Given the description of an element on the screen output the (x, y) to click on. 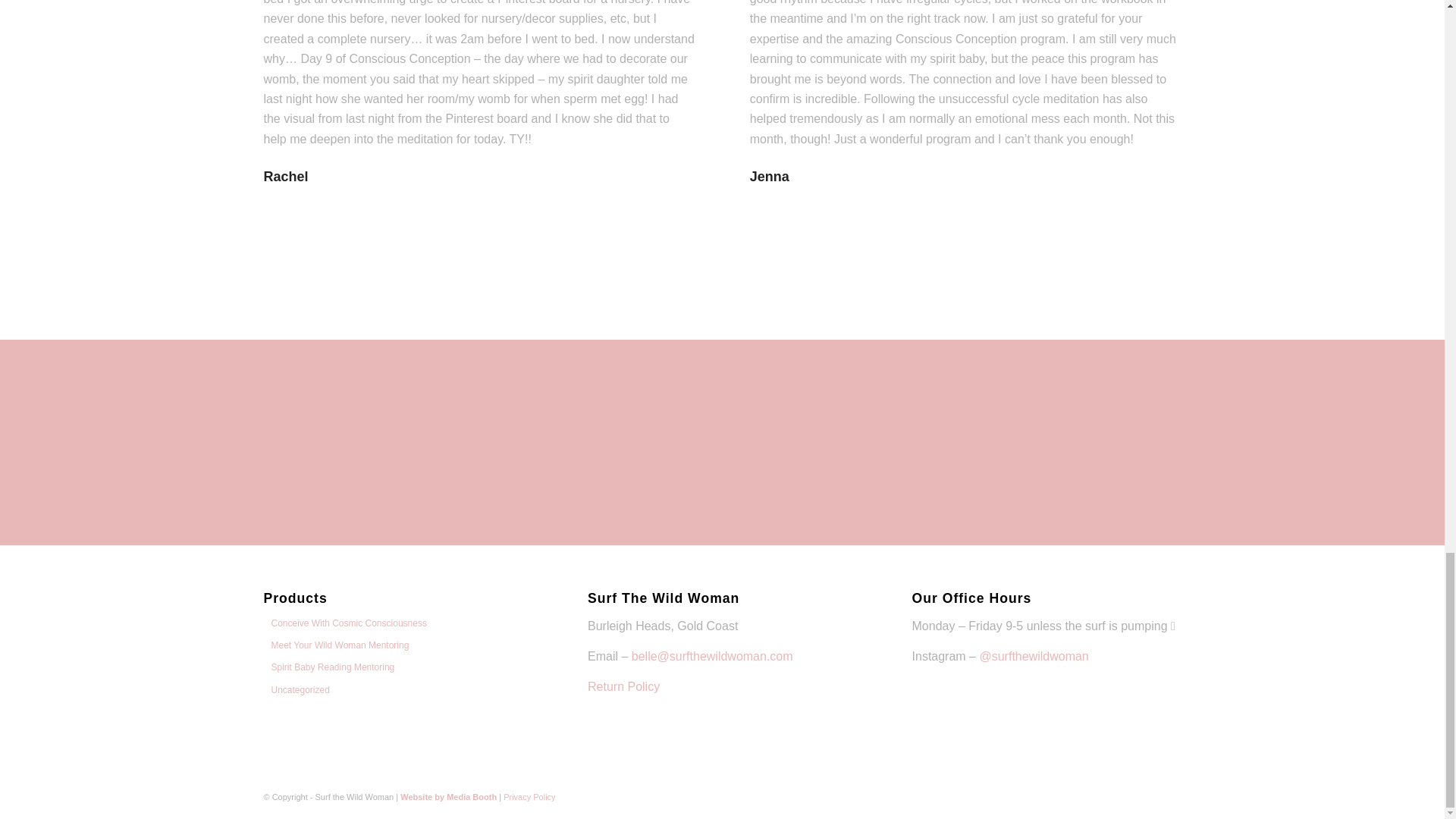
Subscribe (898, 451)
Meet Your Wild Woman Mentoring (336, 644)
Spirit Baby Reading Mentoring (328, 666)
Uncategorized (296, 689)
Privacy Policy (528, 796)
Conceive With Cosmic Consciousness (344, 623)
Return Policy (623, 686)
Website by Media Booth (448, 796)
